Given the description of an element on the screen output the (x, y) to click on. 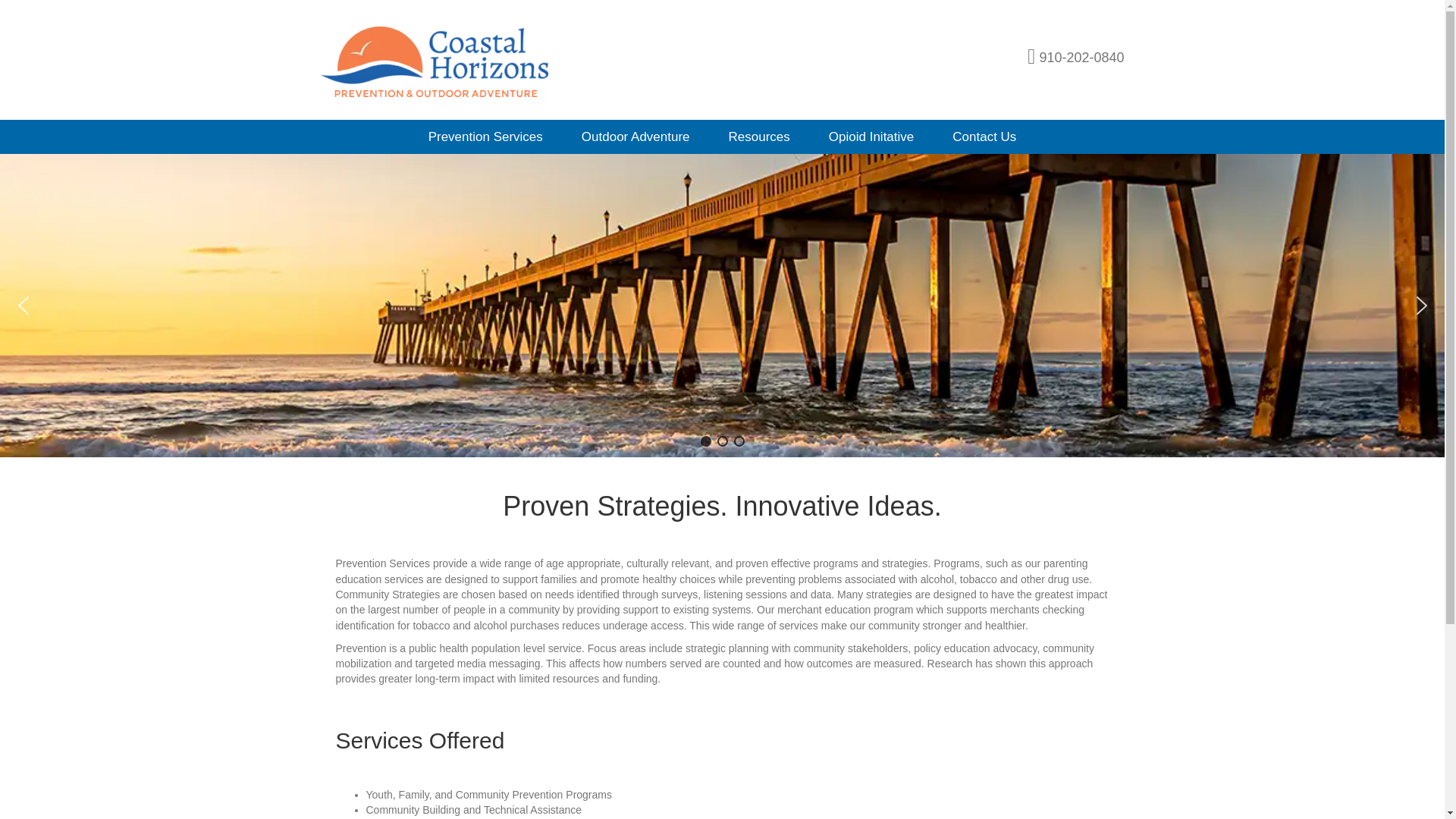
Opioid Initative (871, 136)
Resources (759, 136)
Outdoor Adventure (635, 136)
Prevention Services (485, 136)
Contact Us (984, 136)
